Given the description of an element on the screen output the (x, y) to click on. 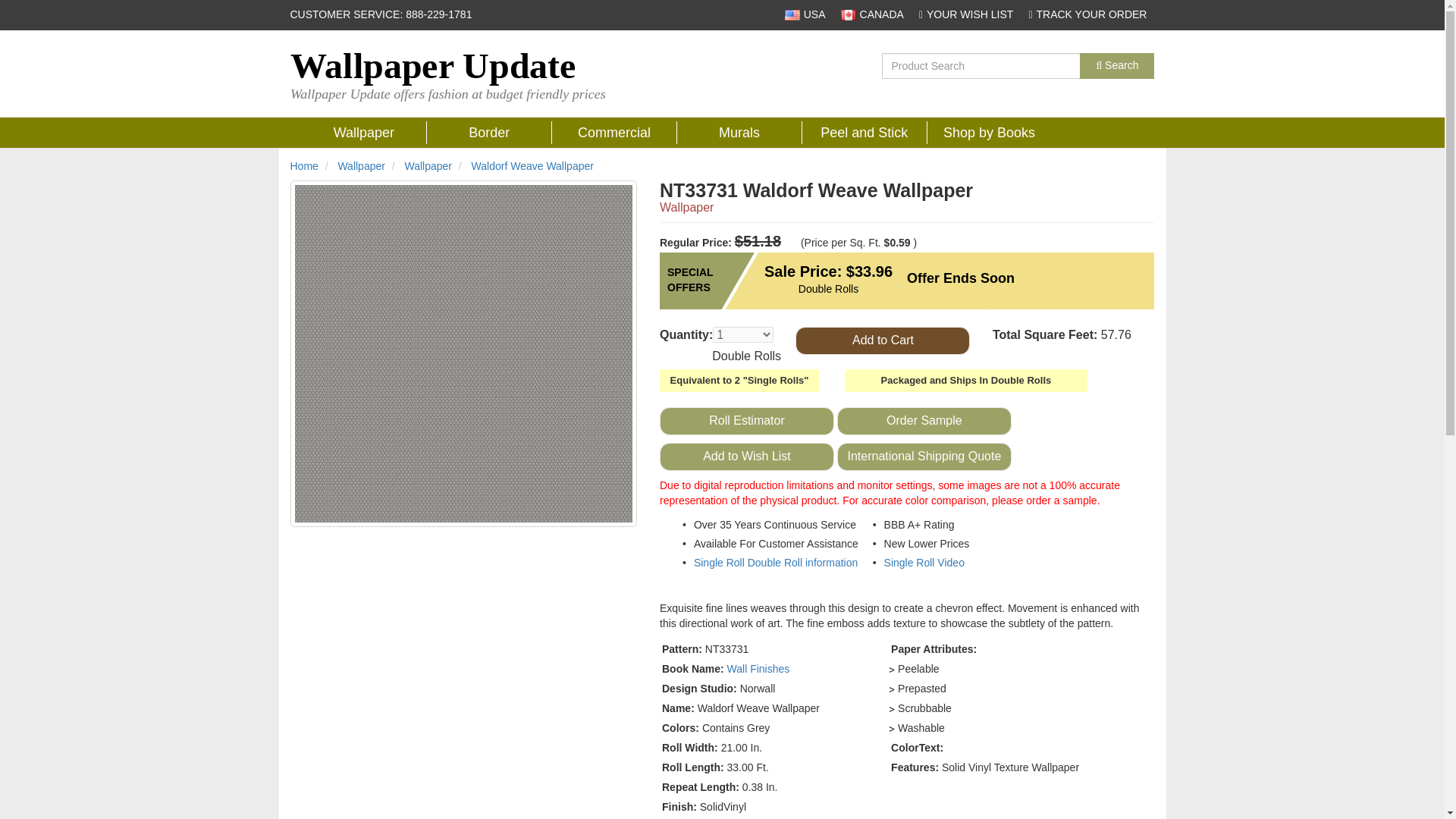
Waldorf Weave Wallpaper (532, 165)
Add to Wish List (746, 456)
wallpaper rollage calculator (746, 420)
Border (488, 132)
 Shop By Book (989, 132)
Add to Cart (881, 340)
Wallpaper (428, 165)
Order Sample (924, 420)
Shop by Books (989, 132)
Wallpaper (363, 132)
Home (303, 165)
Wallpaper (428, 165)
Wallpaper (363, 132)
Peel and Stick (864, 132)
Waldorf Weave Wallpaper (532, 165)
